Given the description of an element on the screen output the (x, y) to click on. 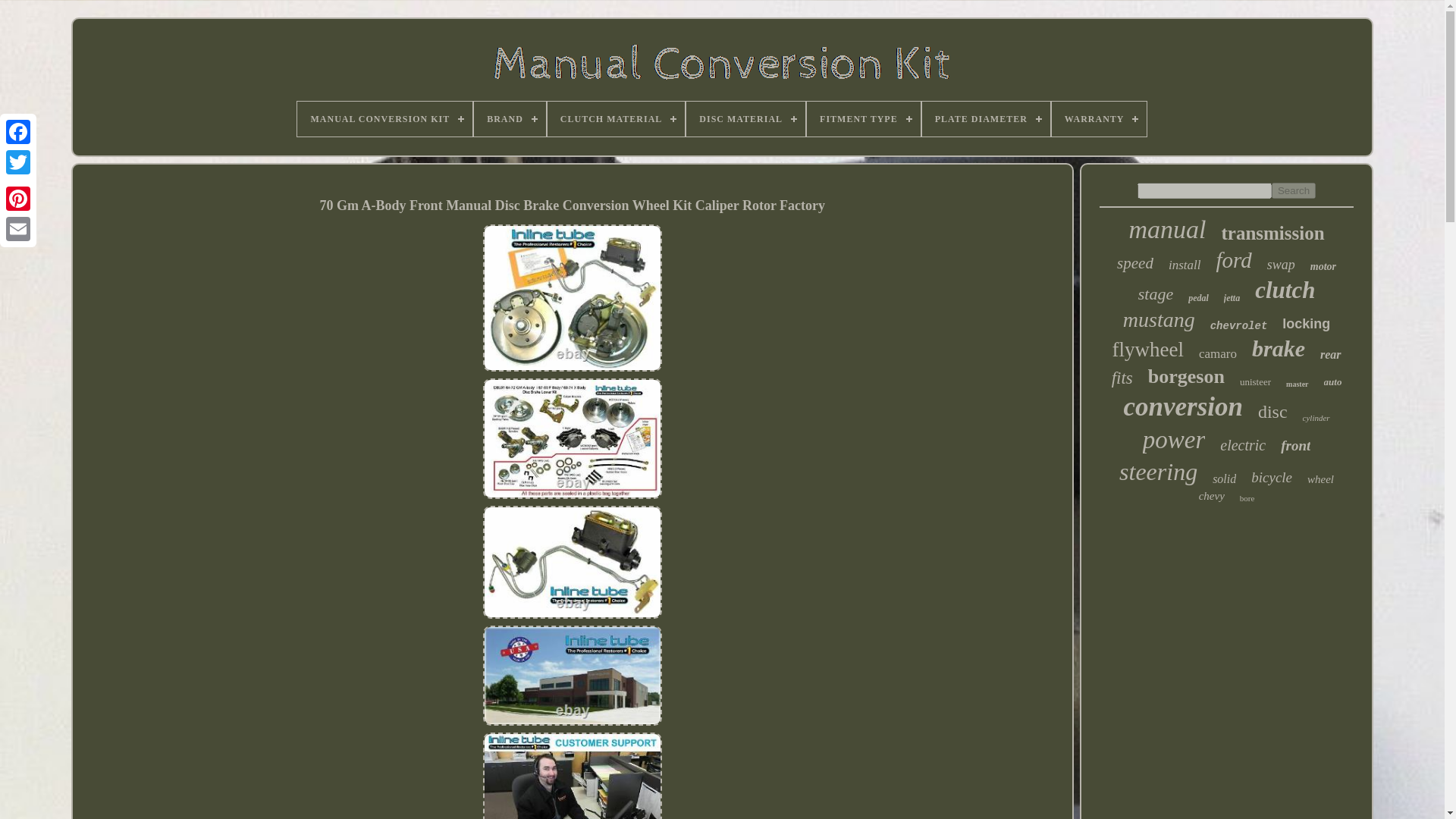
BRAND (510, 118)
Twitter (17, 162)
MANUAL CONVERSION KIT (384, 118)
CLUTCH MATERIAL (615, 118)
Search (1293, 190)
